Given the description of an element on the screen output the (x, y) to click on. 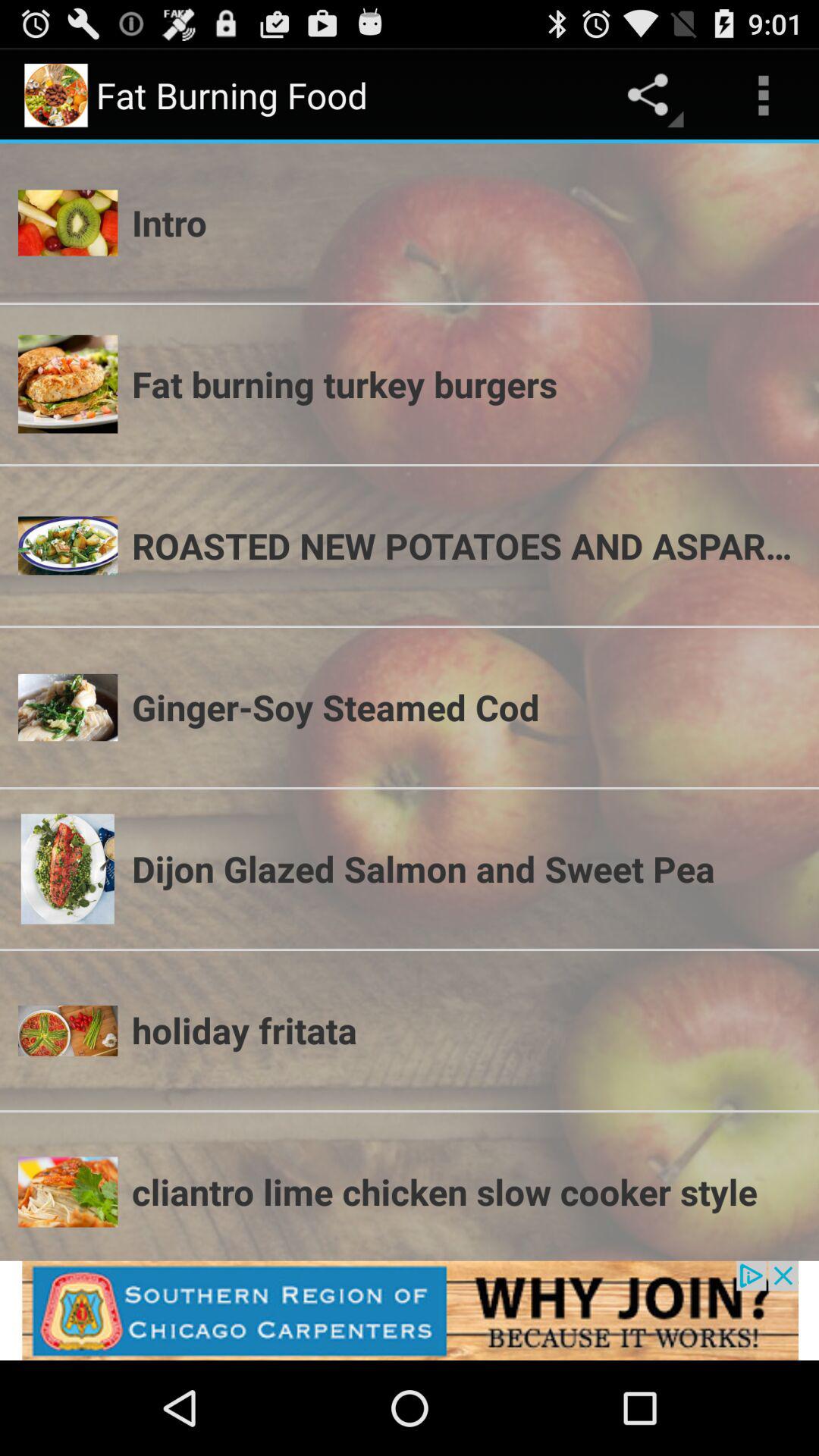
shows why join option (409, 1310)
